Given the description of an element on the screen output the (x, y) to click on. 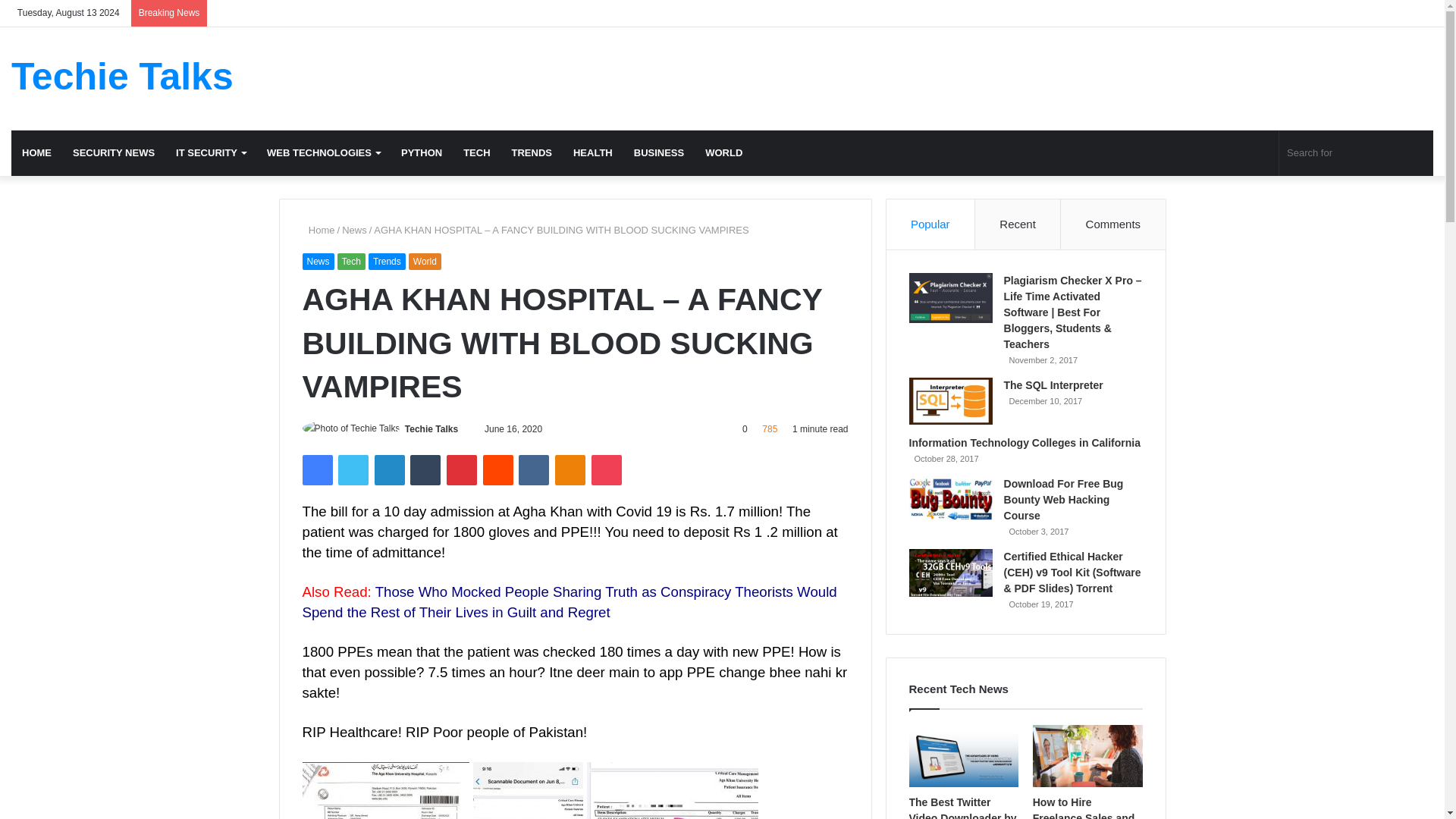
Pocket (606, 470)
Reddit (498, 470)
WEB TECHNOLOGIES (323, 153)
SECURITY NEWS (113, 153)
IT SECURITY (210, 153)
HOME (36, 153)
Advertisement (963, 76)
Techie Talks (431, 429)
Odnoklassniki (569, 470)
Tumblr (425, 470)
